Given the description of an element on the screen output the (x, y) to click on. 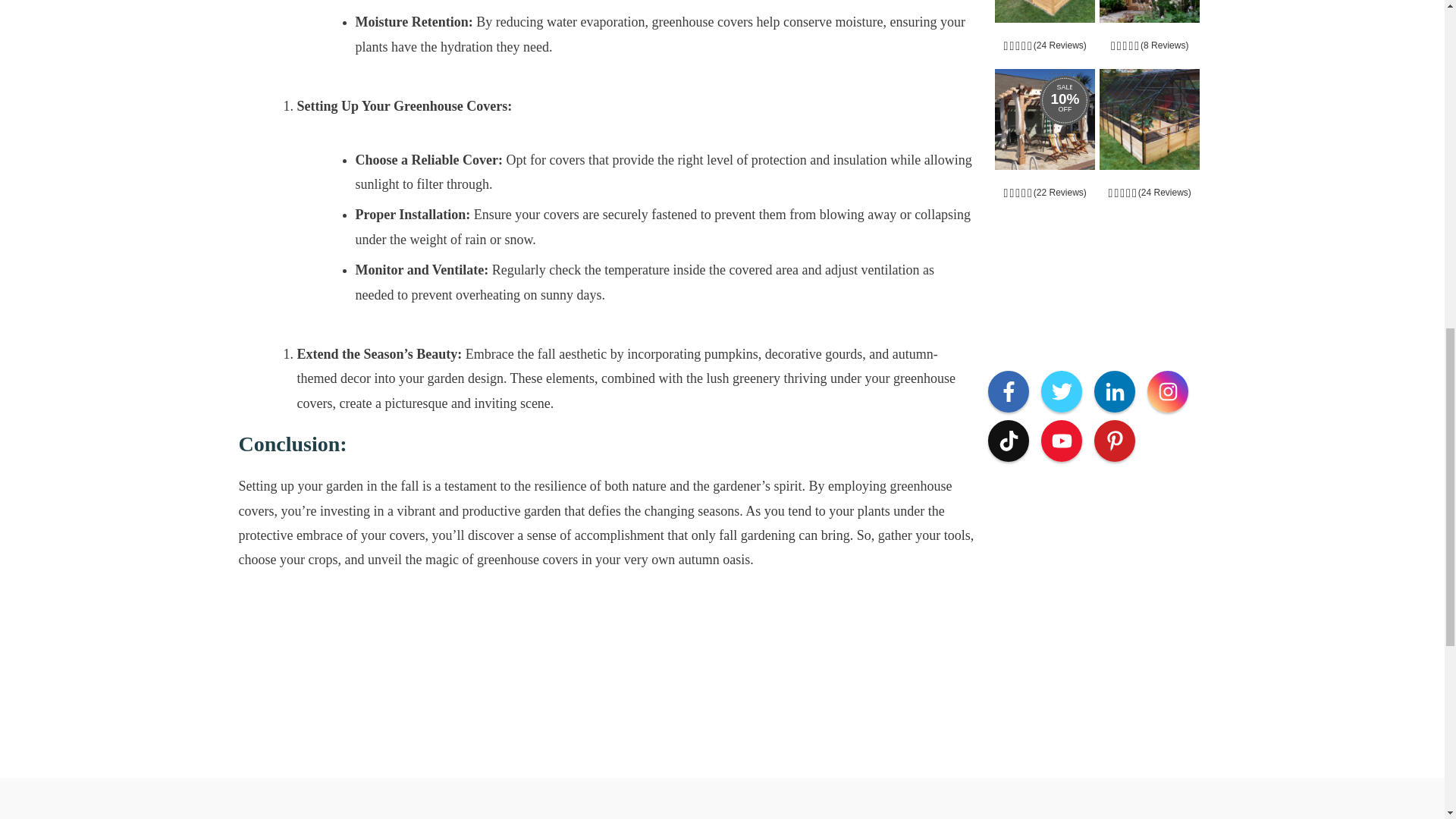
5 Stars - 8 Reviews (1149, 45)
4.75 Stars - 24 Reviews (1045, 45)
4.75 Stars - 24 Reviews (1149, 192)
4.95 Stars - 22 Reviews (1045, 192)
